Given the description of an element on the screen output the (x, y) to click on. 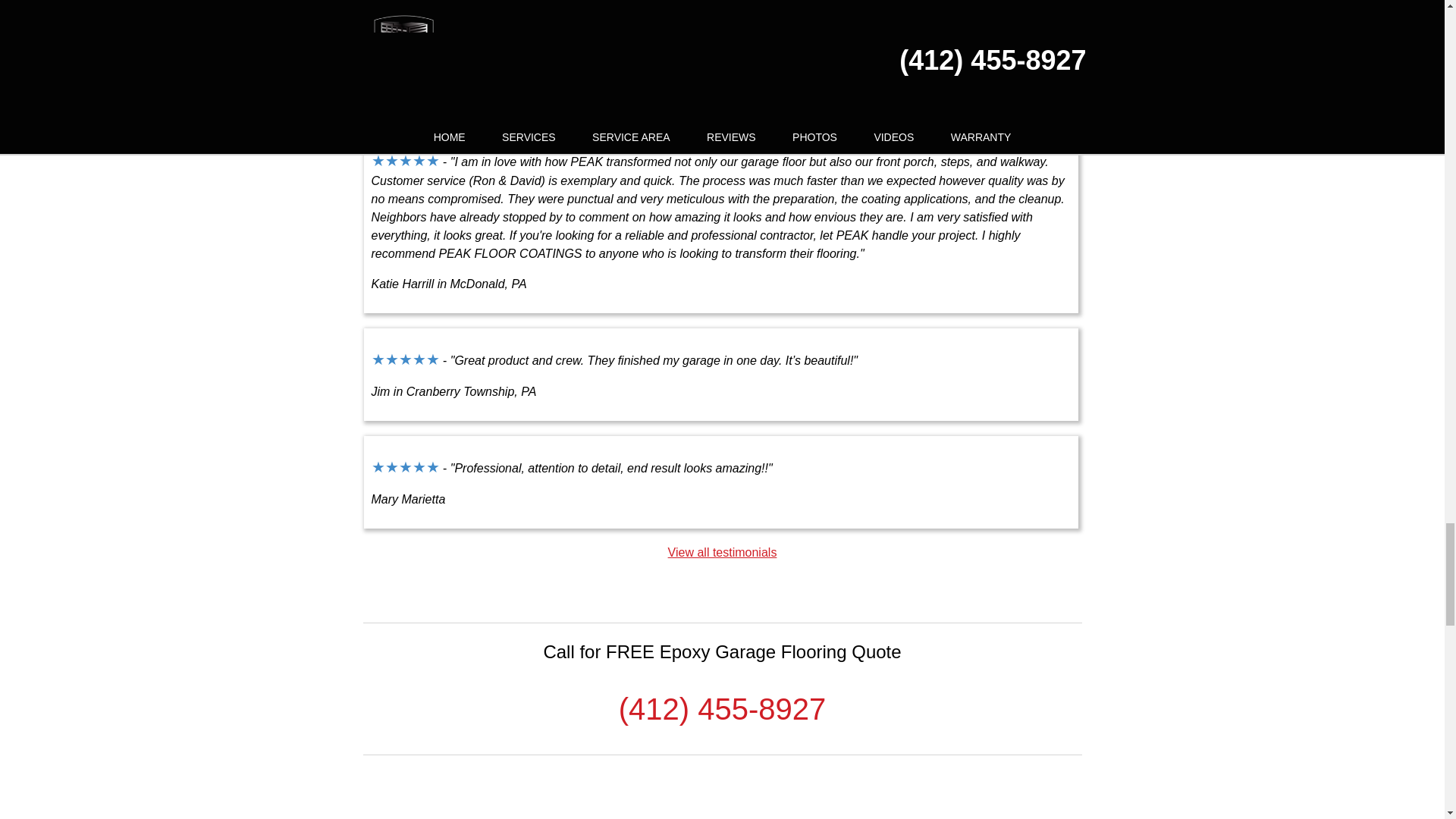
View all testimonials (722, 552)
